Given the description of an element on the screen output the (x, y) to click on. 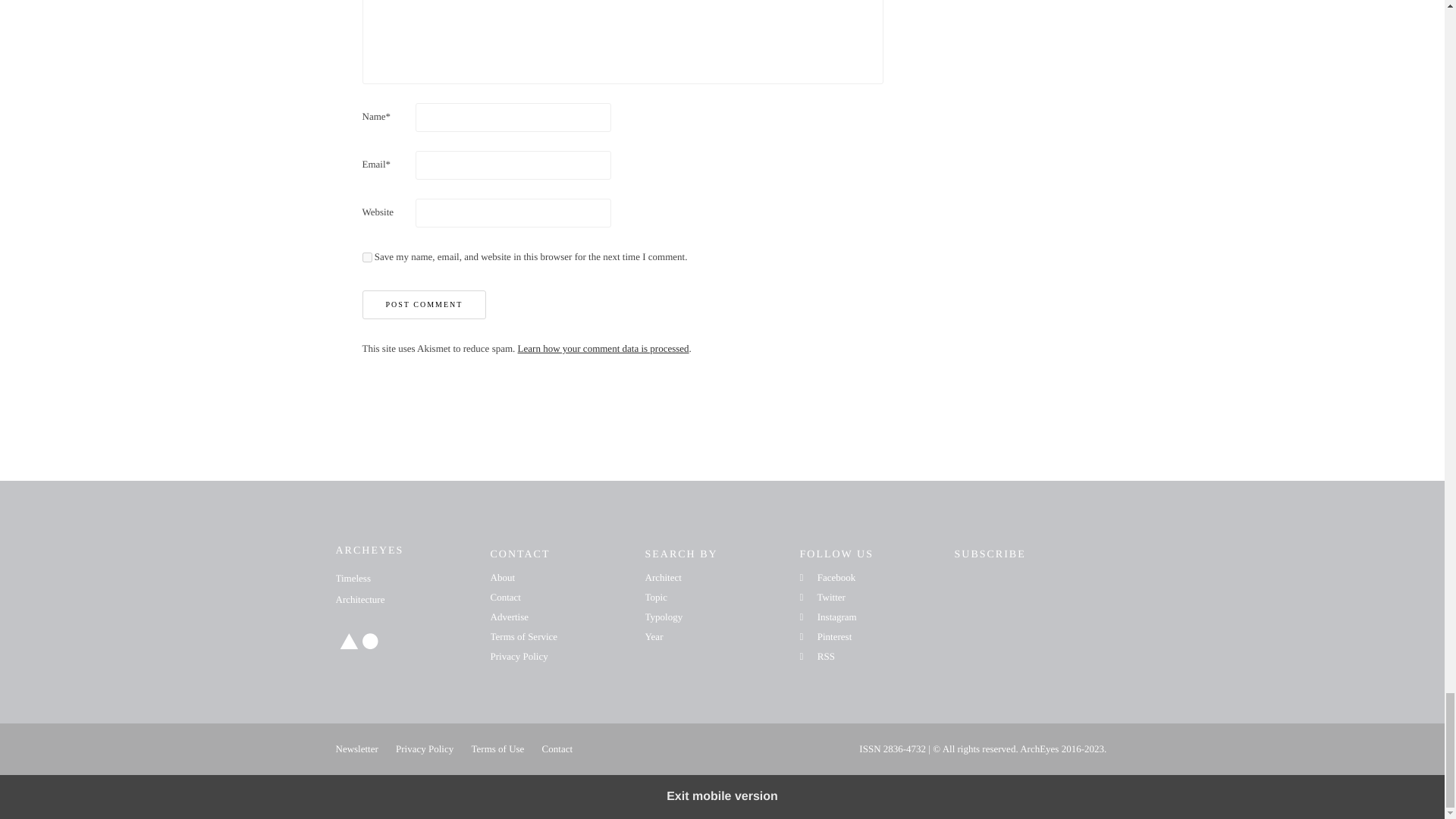
Post comment (424, 304)
yes (367, 257)
